Given the description of an element on the screen output the (x, y) to click on. 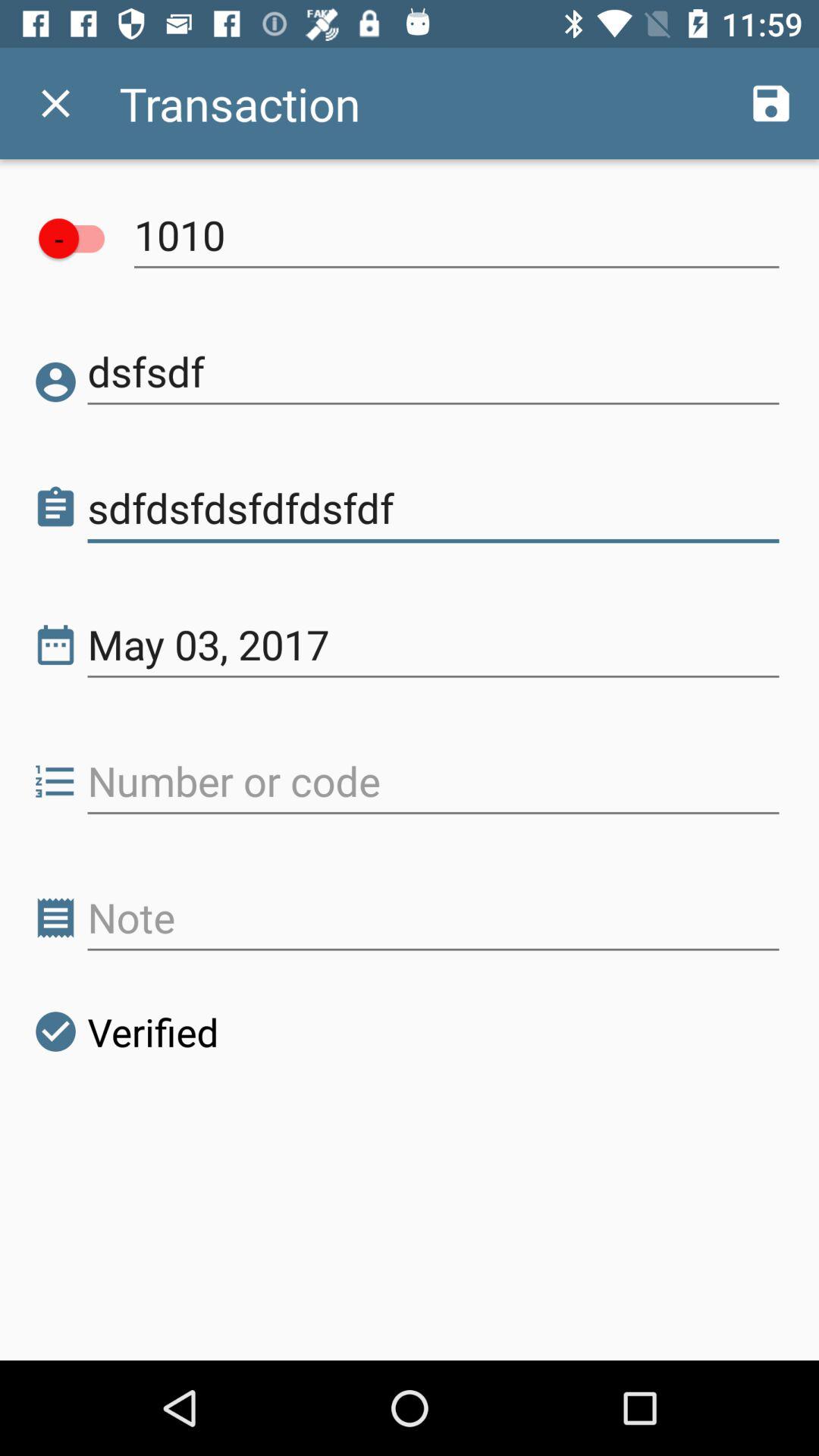
select account (78, 238)
